Given the description of an element on the screen output the (x, y) to click on. 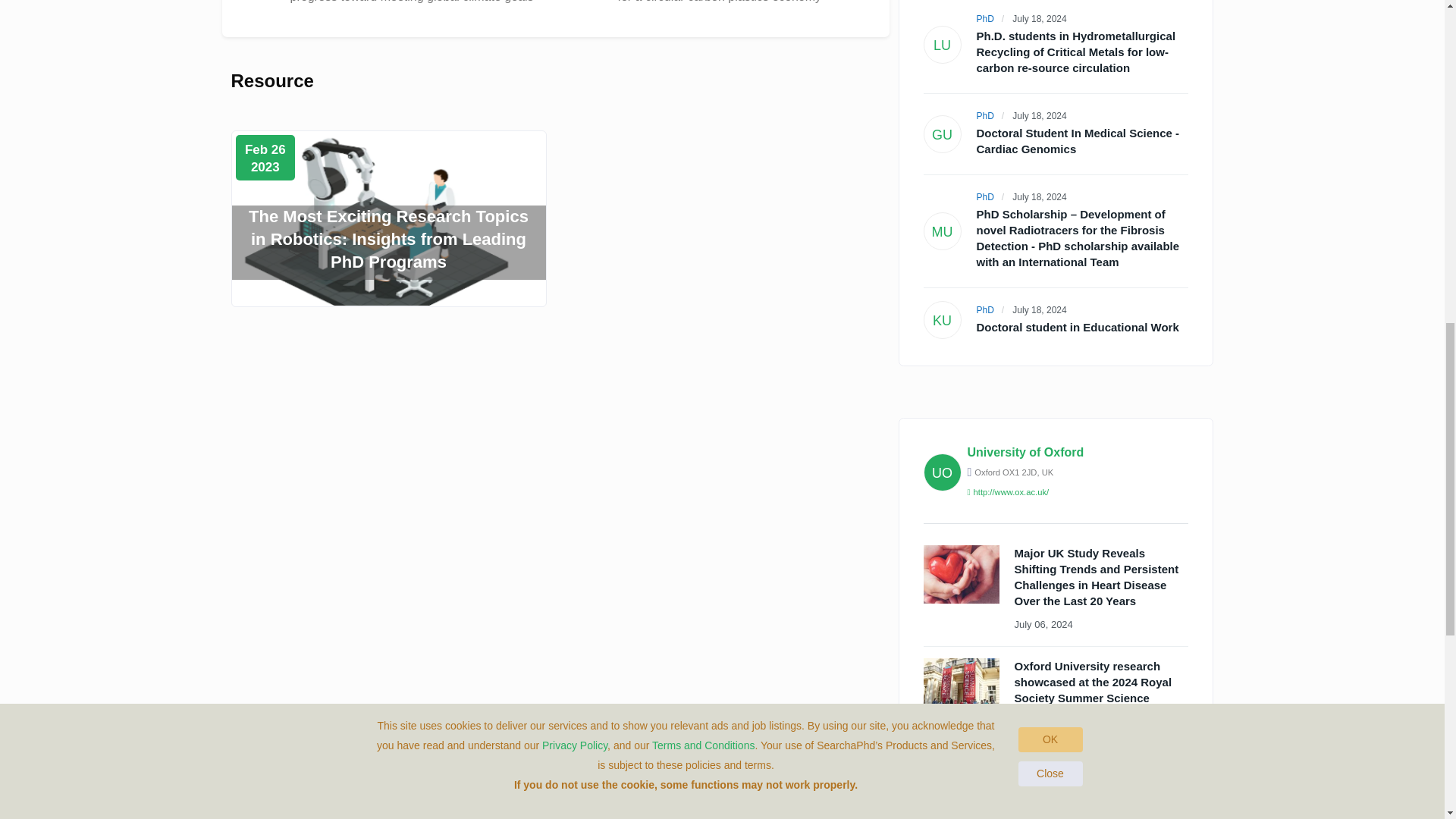
Lulea University (985, 18)
Monash University (985, 196)
Karlstad University (985, 309)
